Given the description of an element on the screen output the (x, y) to click on. 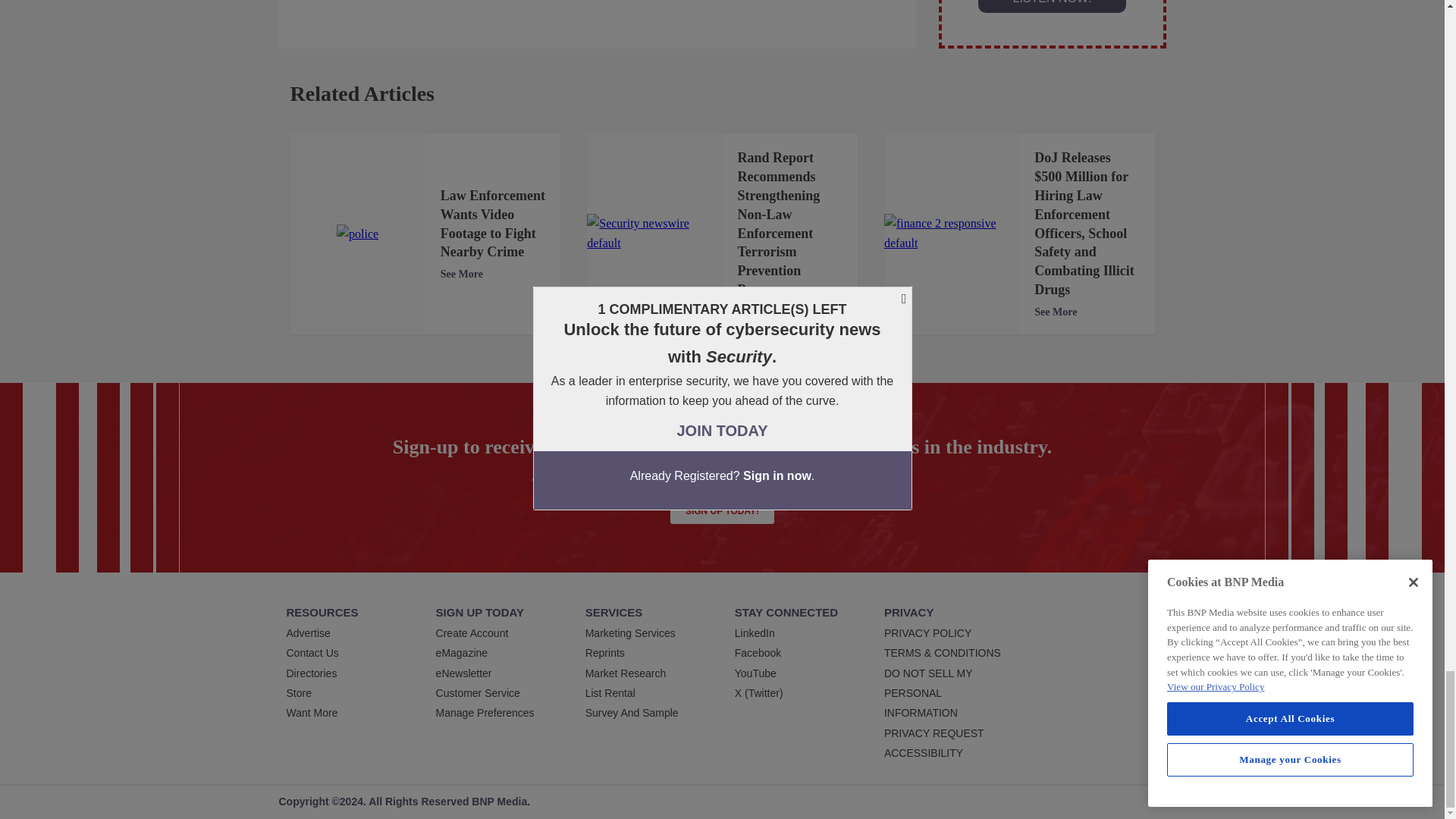
police (357, 234)
finance 2 responsive default (951, 233)
Security newswire default (654, 233)
